Given the description of an element on the screen output the (x, y) to click on. 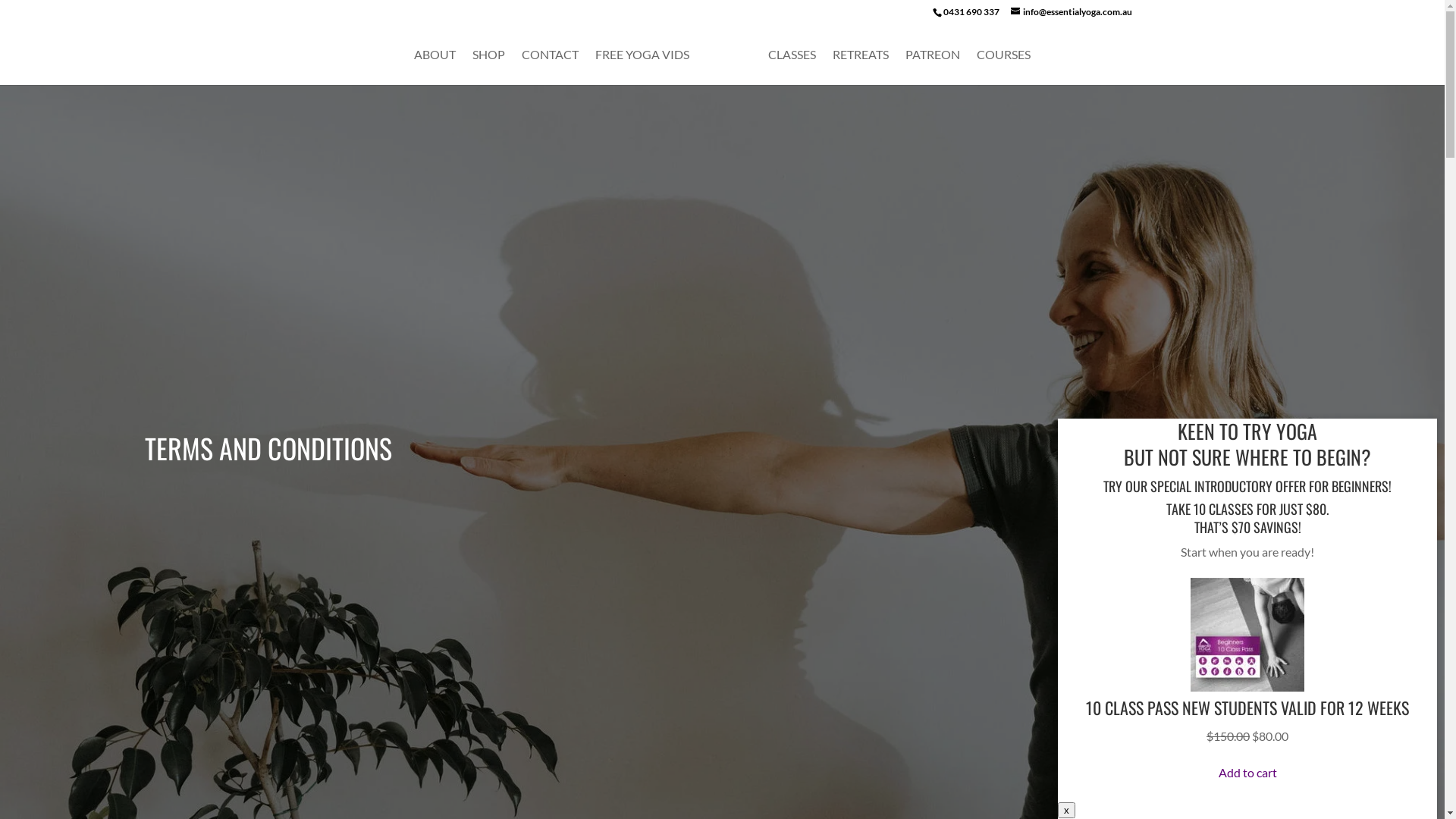
COURSES Element type: text (1003, 66)
RETREATS Element type: text (860, 66)
Pass Mockups-02-02-02 Element type: hover (1247, 634)
SHOP Element type: text (488, 66)
PATREON Element type: text (932, 66)
ABOUT Element type: text (434, 66)
FREE YOGA VIDS Element type: text (642, 66)
CONTACT Element type: text (549, 66)
CLASSES Element type: text (791, 66)
x Element type: text (1066, 810)
10 Class Pass New Students Valid for 12 weeks Element type: hover (1247, 686)
Add to cart Element type: text (1246, 772)
10 CLASS PASS NEW STUDENTS VALID FOR 12 WEEKS Element type: text (1246, 707)
info@essentialyoga.com.au Element type: text (1070, 11)
